Given the description of an element on the screen output the (x, y) to click on. 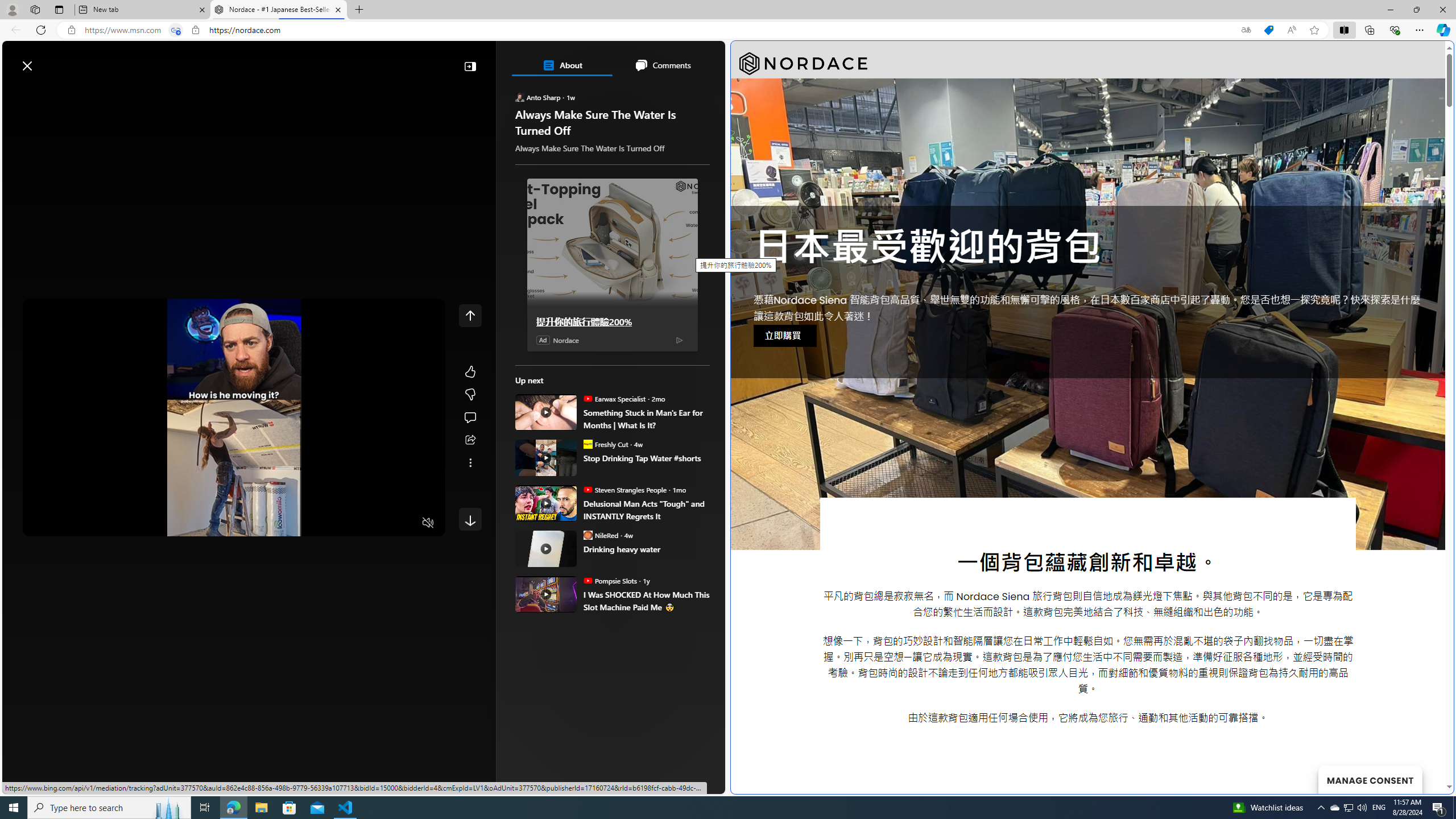
The Associated Press (554, 366)
Notifications (676, 60)
Pompsie Slots (587, 580)
Captions (383, 523)
